Given the description of an element on the screen output the (x, y) to click on. 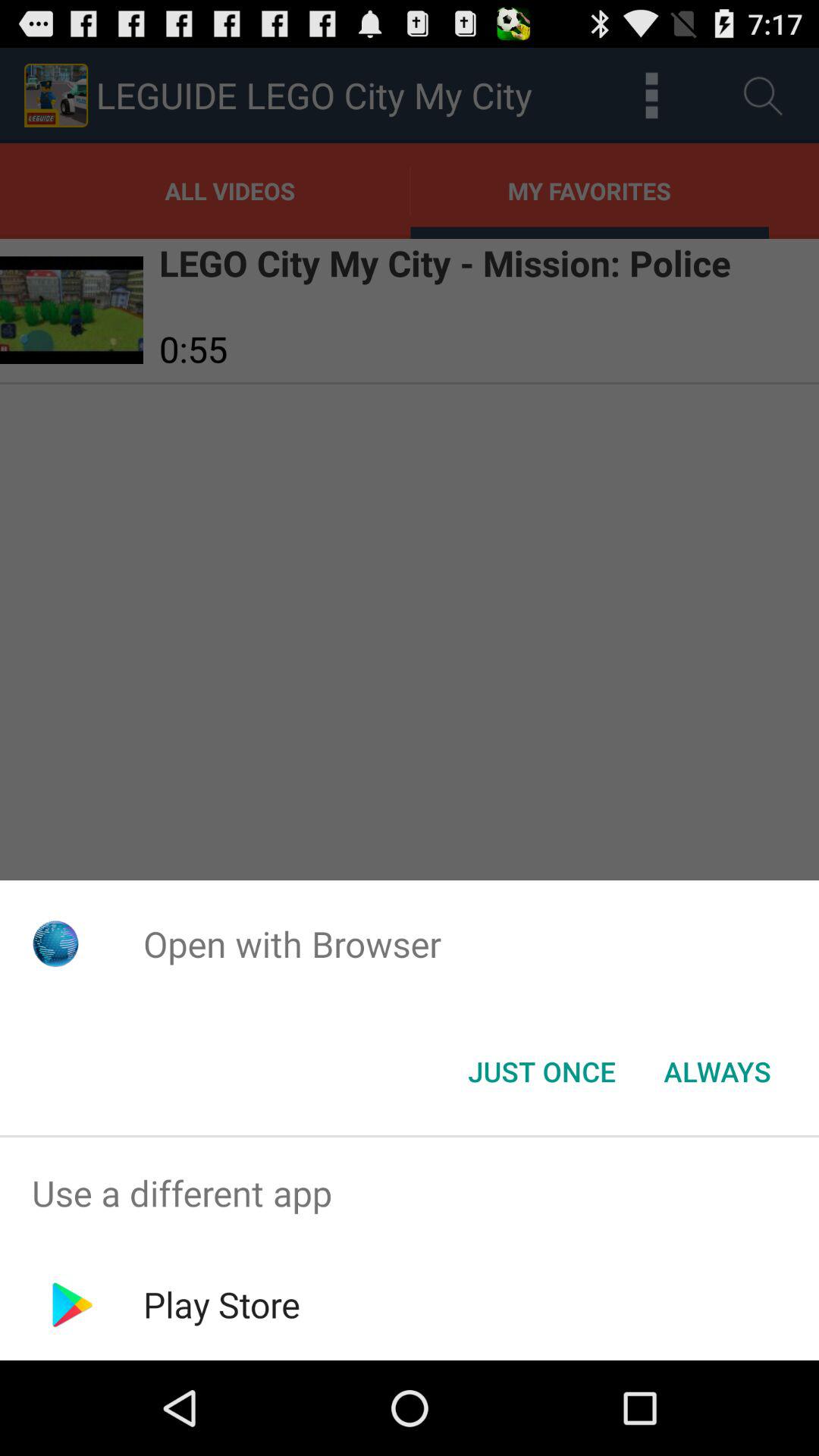
tap the item below the open with browser (717, 1071)
